Given the description of an element on the screen output the (x, y) to click on. 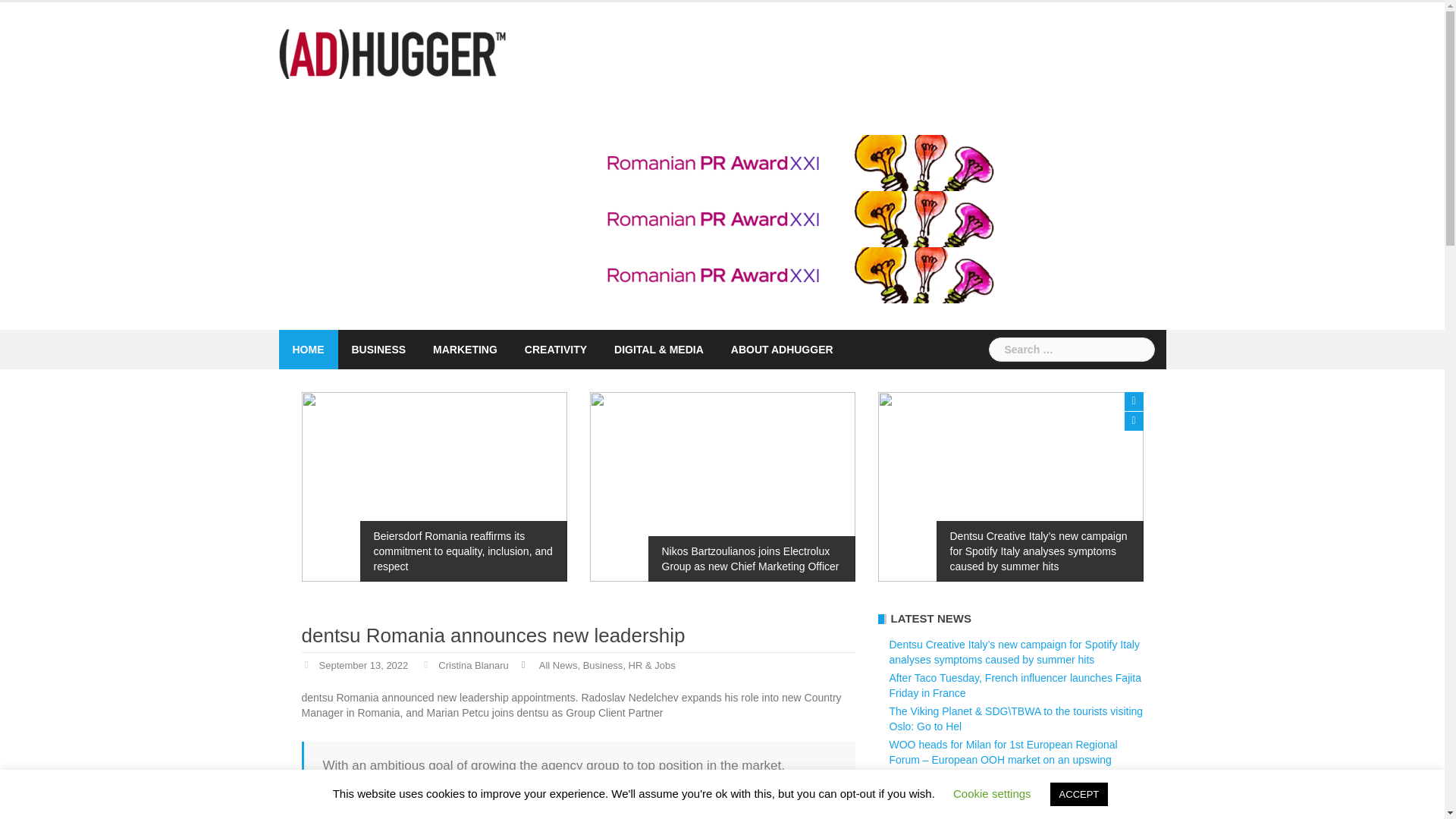
Search (39, 18)
AdHugger (392, 52)
CREATIVITY (555, 349)
ABOUT ADHUGGER (781, 349)
BUSINESS (379, 349)
MARKETING (464, 349)
